Given the description of an element on the screen output the (x, y) to click on. 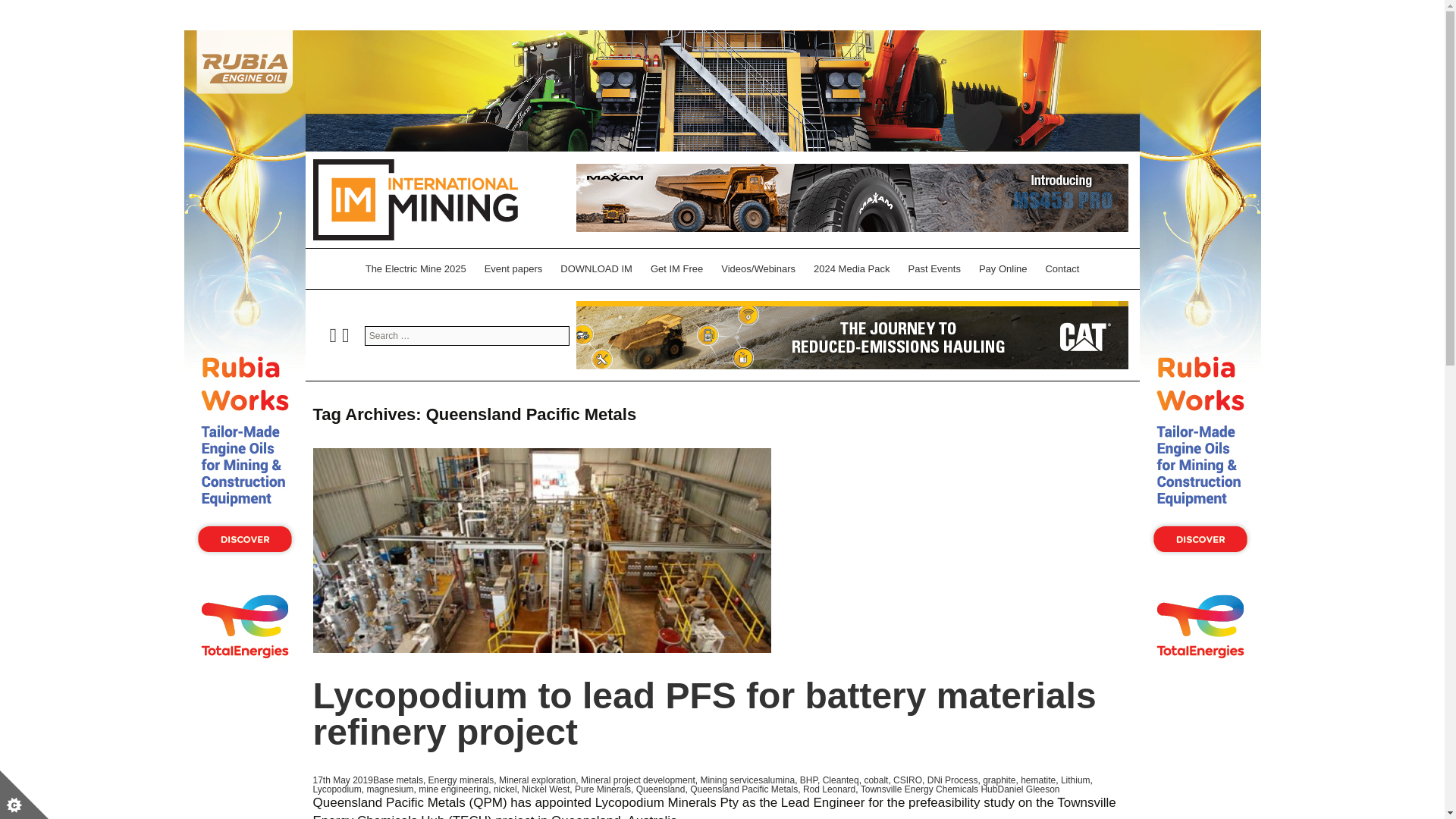
Mineral exploration (537, 779)
Get IM Free (676, 268)
Base metals (397, 779)
The Electric Mine 2025 (415, 268)
2024 Media Pack (851, 268)
Pay Online (1002, 268)
alumina (778, 779)
DOWNLOAD IM (596, 268)
Energy minerals (461, 779)
Past Events (933, 268)
Mineral project development (637, 779)
Contact (1062, 268)
17th May 2019 (342, 779)
